Given the description of an element on the screen output the (x, y) to click on. 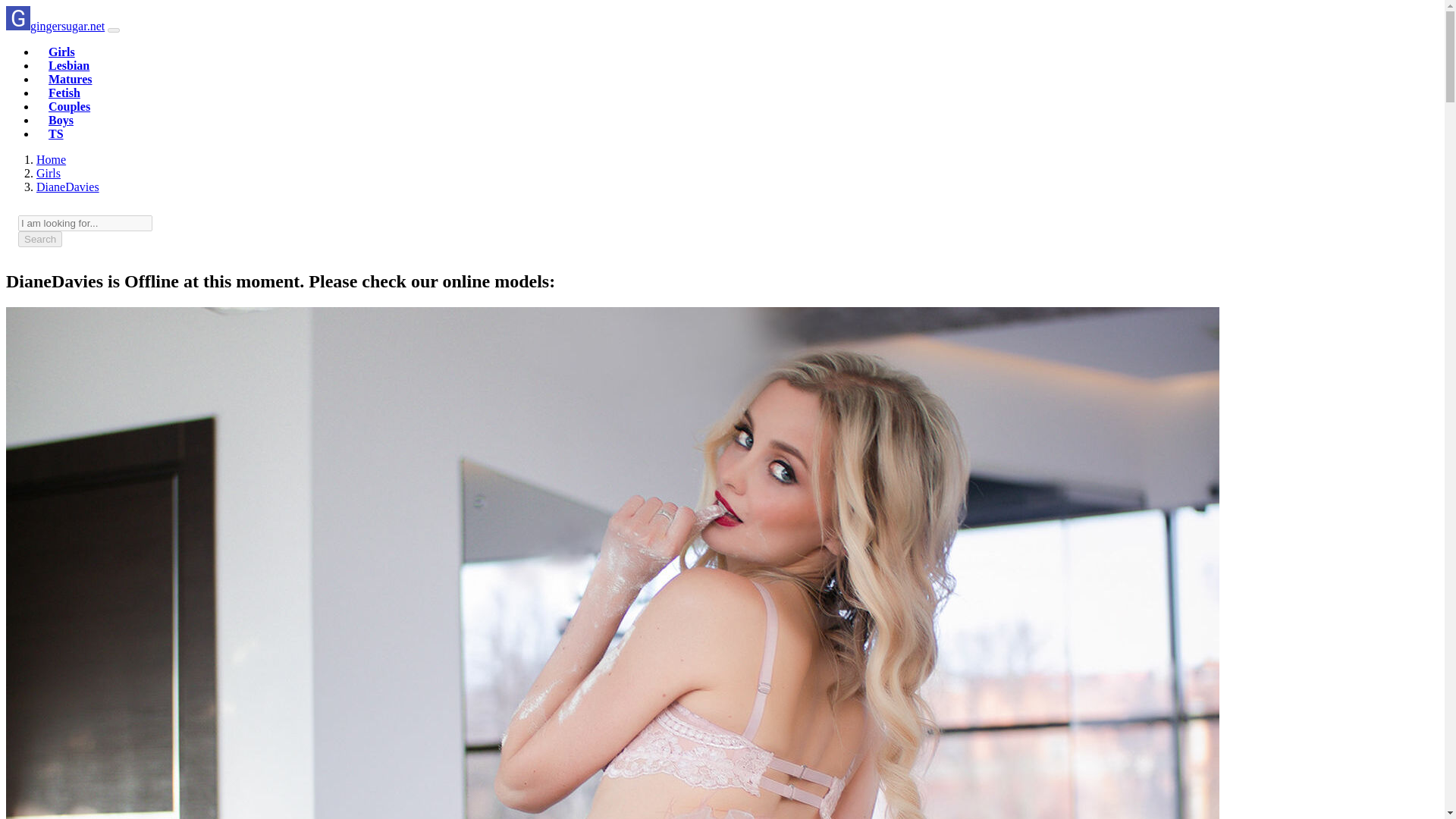
Girls (48, 173)
Lesbian (68, 65)
gingersugar.net (54, 25)
DianeDavies's Live Sex Room - Epic Porn (67, 186)
gingersugar.net (50, 159)
Girls (48, 173)
Boys (61, 119)
Couples (69, 106)
Search (39, 238)
gingersugar.net (54, 25)
Boys (61, 119)
Matures (69, 78)
Fetish (64, 92)
TS (56, 133)
DianeDavies (67, 186)
